Given the description of an element on the screen output the (x, y) to click on. 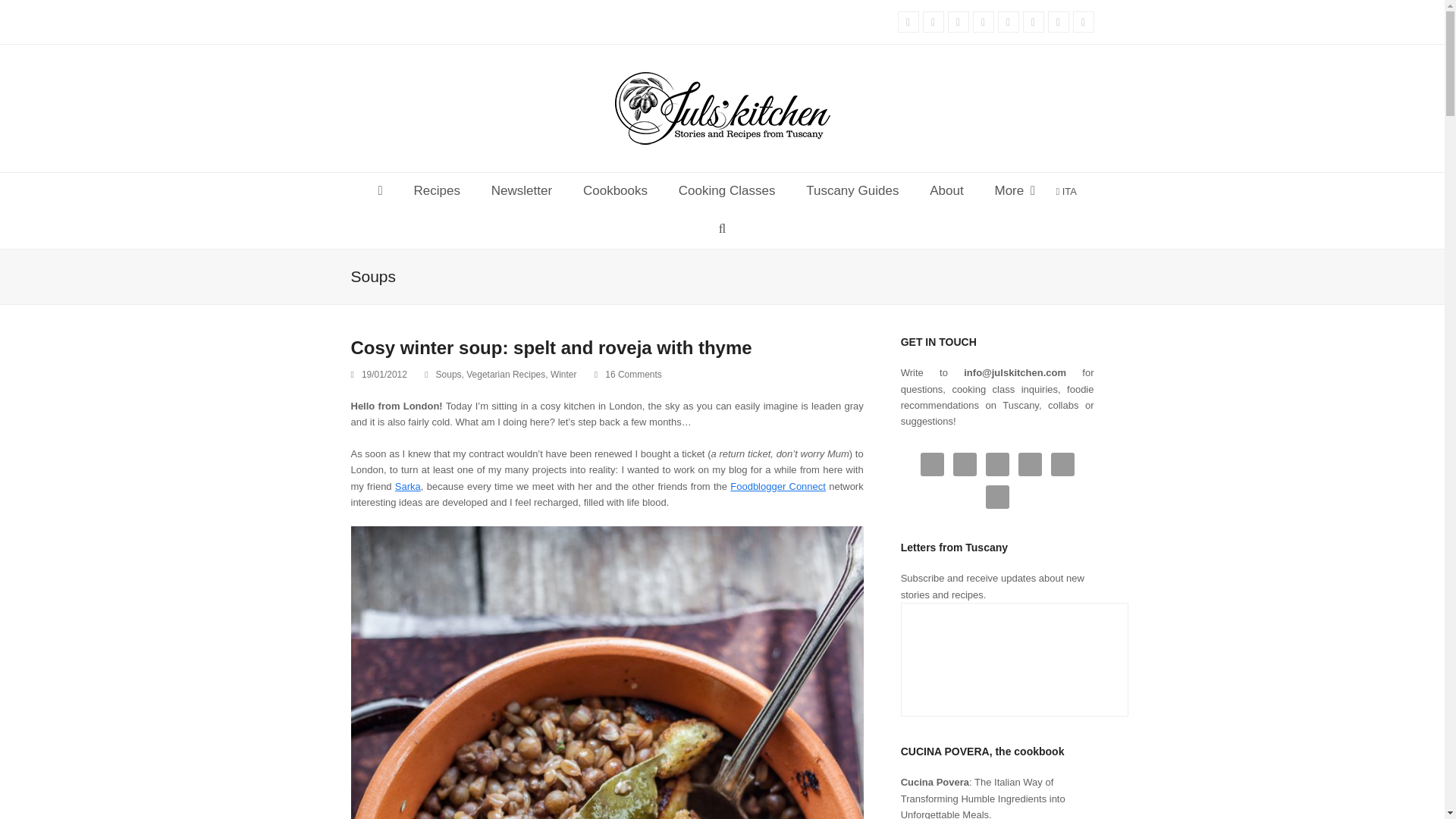
Cookbooks (615, 191)
Instagram (982, 21)
About (946, 191)
Facebook (932, 21)
RSS (1058, 21)
Foodblogger Connect (777, 486)
Email (1082, 21)
Email (1082, 21)
Spotify (1032, 21)
Spotify (1032, 21)
More (1014, 191)
Instagram (982, 21)
Cooking Classes (726, 191)
Winter (563, 374)
